Given the description of an element on the screen output the (x, y) to click on. 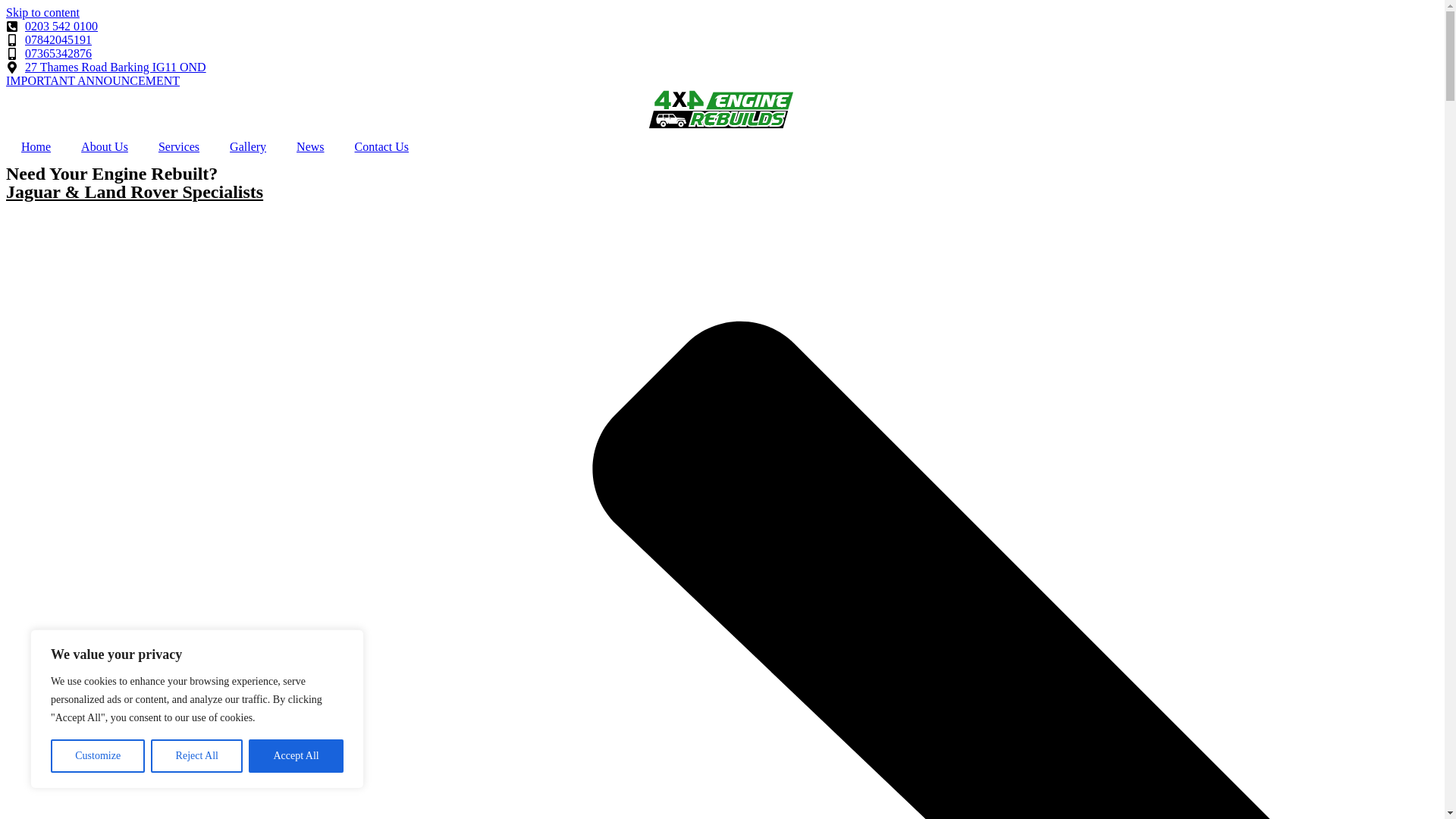
Skip to content (42, 11)
About Us (103, 146)
Services (178, 146)
Home (35, 146)
News (310, 146)
Accept All (295, 756)
Customize (97, 756)
IMPORTANT ANNOUNCEMENT (92, 80)
Gallery (247, 146)
Contact Us (382, 146)
